Given the description of an element on the screen output the (x, y) to click on. 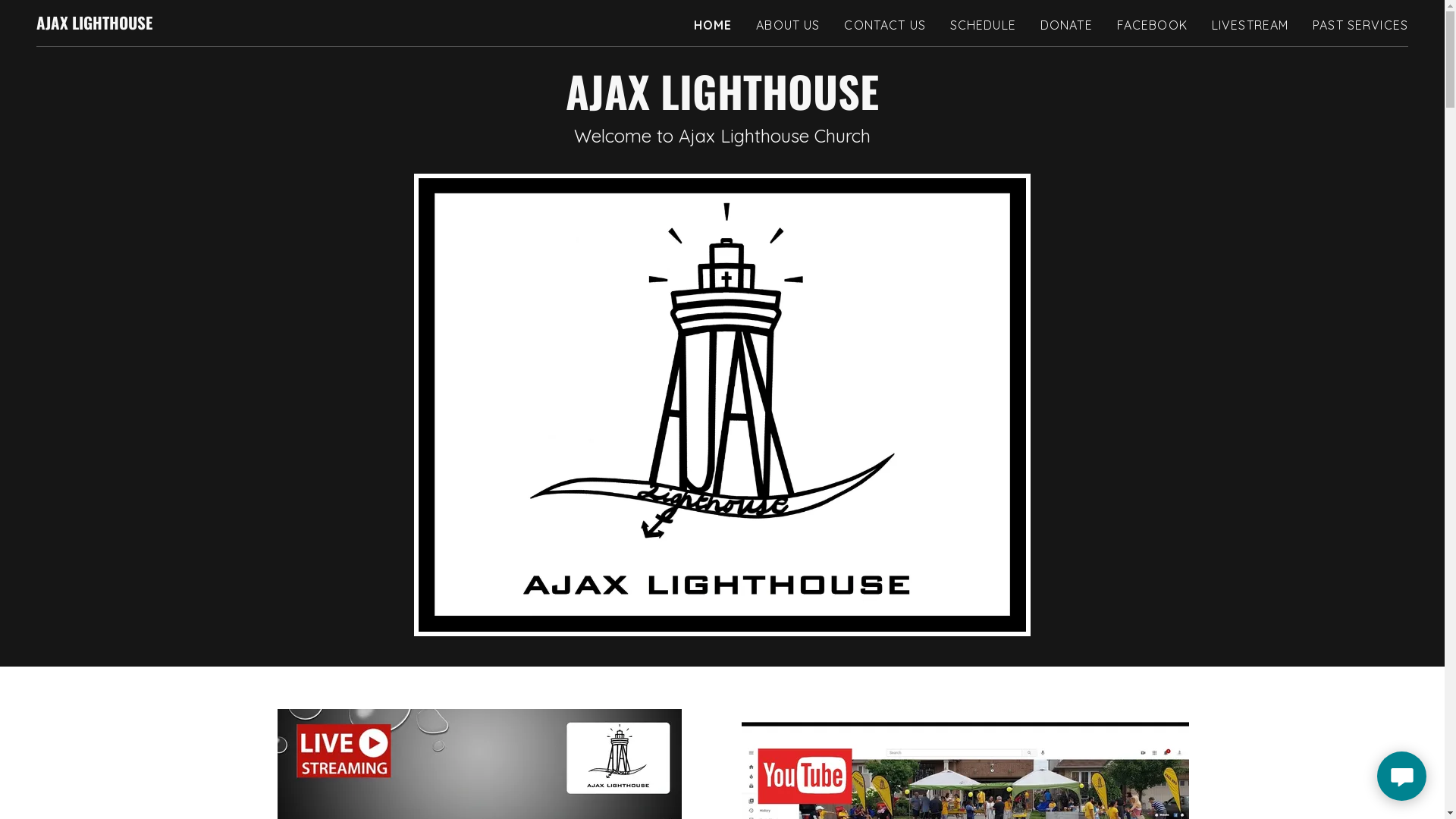
DONATE Element type: text (1066, 24)
ABOUT US Element type: text (787, 24)
AJAX LIGHTHOUSE Element type: text (94, 24)
SCHEDULE Element type: text (982, 24)
CONTACT US Element type: text (884, 24)
HOME Element type: text (712, 24)
FACEBOOK Element type: text (1152, 24)
PAST SERVICES Element type: text (1360, 24)
LIVESTREAM Element type: text (1249, 24)
